Given the description of an element on the screen output the (x, y) to click on. 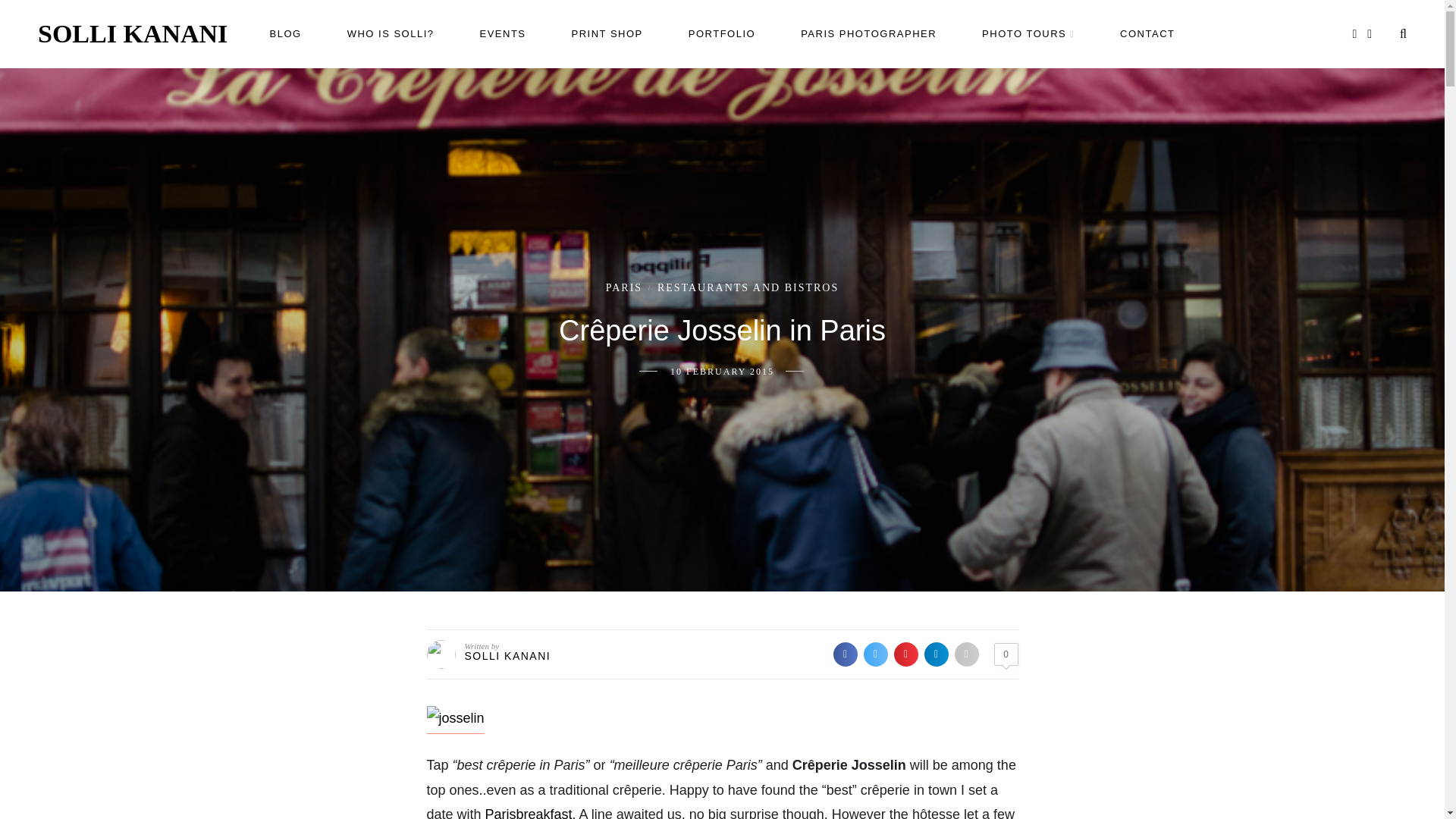
10 FEBRUARY 2015 (721, 371)
RESTAURANTS AND BISTROS (748, 287)
WHO IS SOLLI? (390, 33)
PARIS PHOTOGRAPHER (868, 33)
Parisbreakfasts (528, 812)
PHOTO TOURS (1027, 33)
PARIS (623, 287)
PORTFOLIO (721, 33)
PRINT SHOP (607, 33)
Posts by Solli Kanani (507, 655)
